Given the description of an element on the screen output the (x, y) to click on. 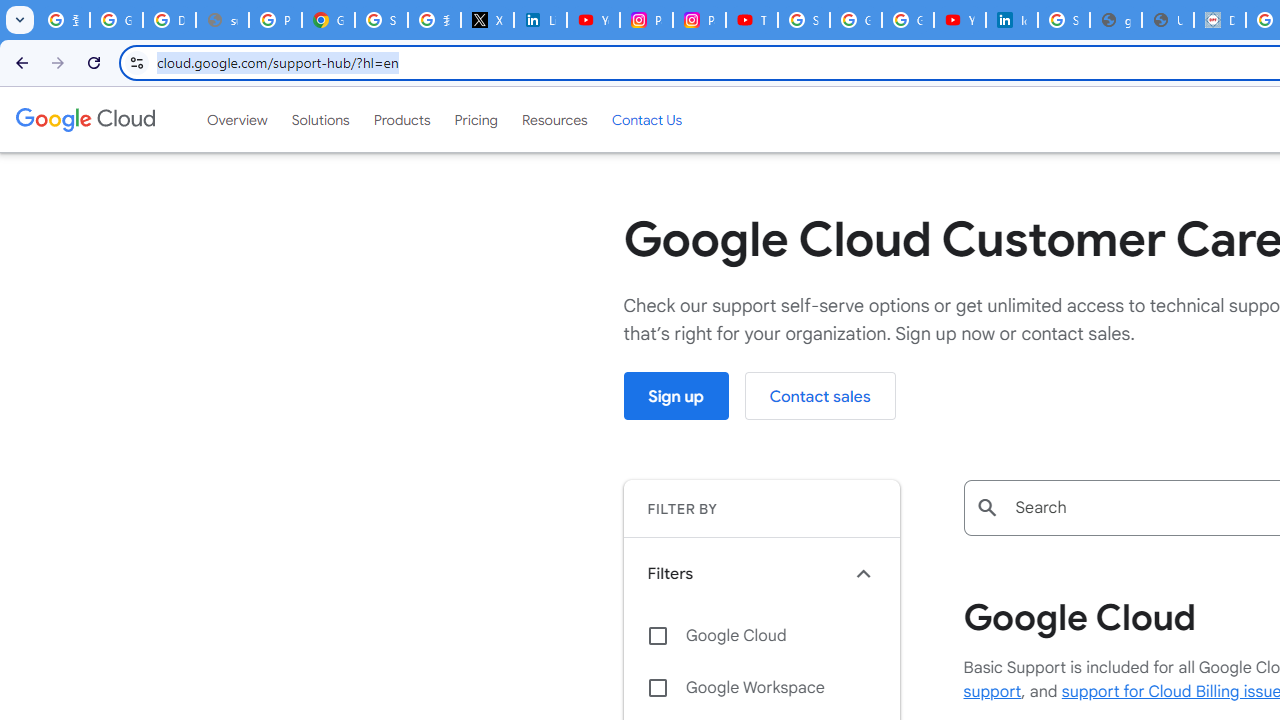
Filters keyboard_arrow_up (761, 573)
Resources (553, 119)
Privacy Help Center - Policies Help (275, 20)
Google Cloud (84, 119)
Sign in - Google Accounts (803, 20)
